Given the description of an element on the screen output the (x, y) to click on. 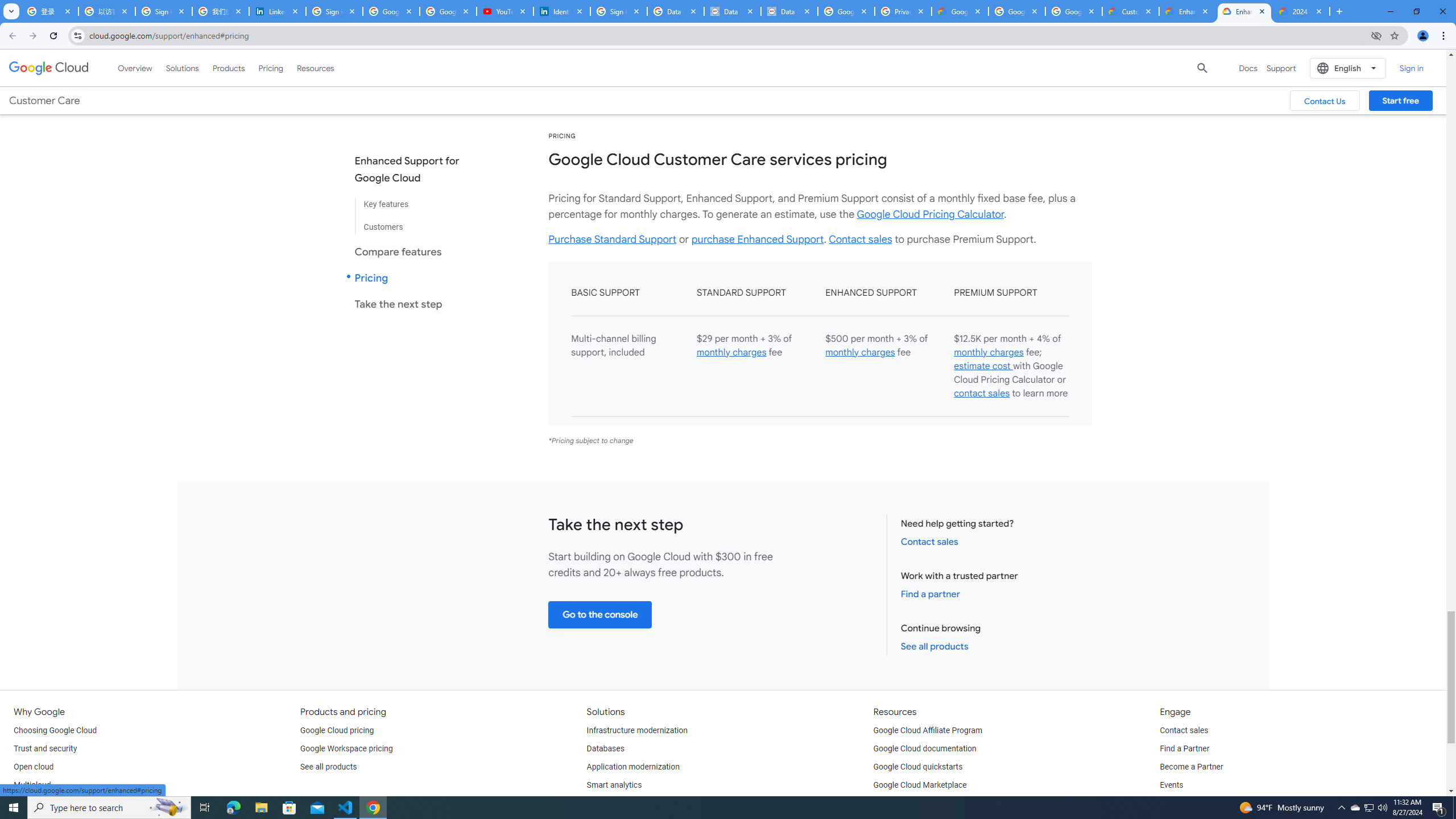
Events (1170, 784)
Find a Partner (1183, 748)
estimate cost  (983, 365)
Customer Care | Google Cloud (1130, 11)
Google Workspace - Specific Terms (1073, 11)
Multicloud (31, 784)
Products (228, 67)
Enhanced Support | Google Cloud (1187, 11)
Learn about cloud computing (924, 802)
Sign in - Google Accounts (163, 11)
Solutions (181, 67)
